Given the description of an element on the screen output the (x, y) to click on. 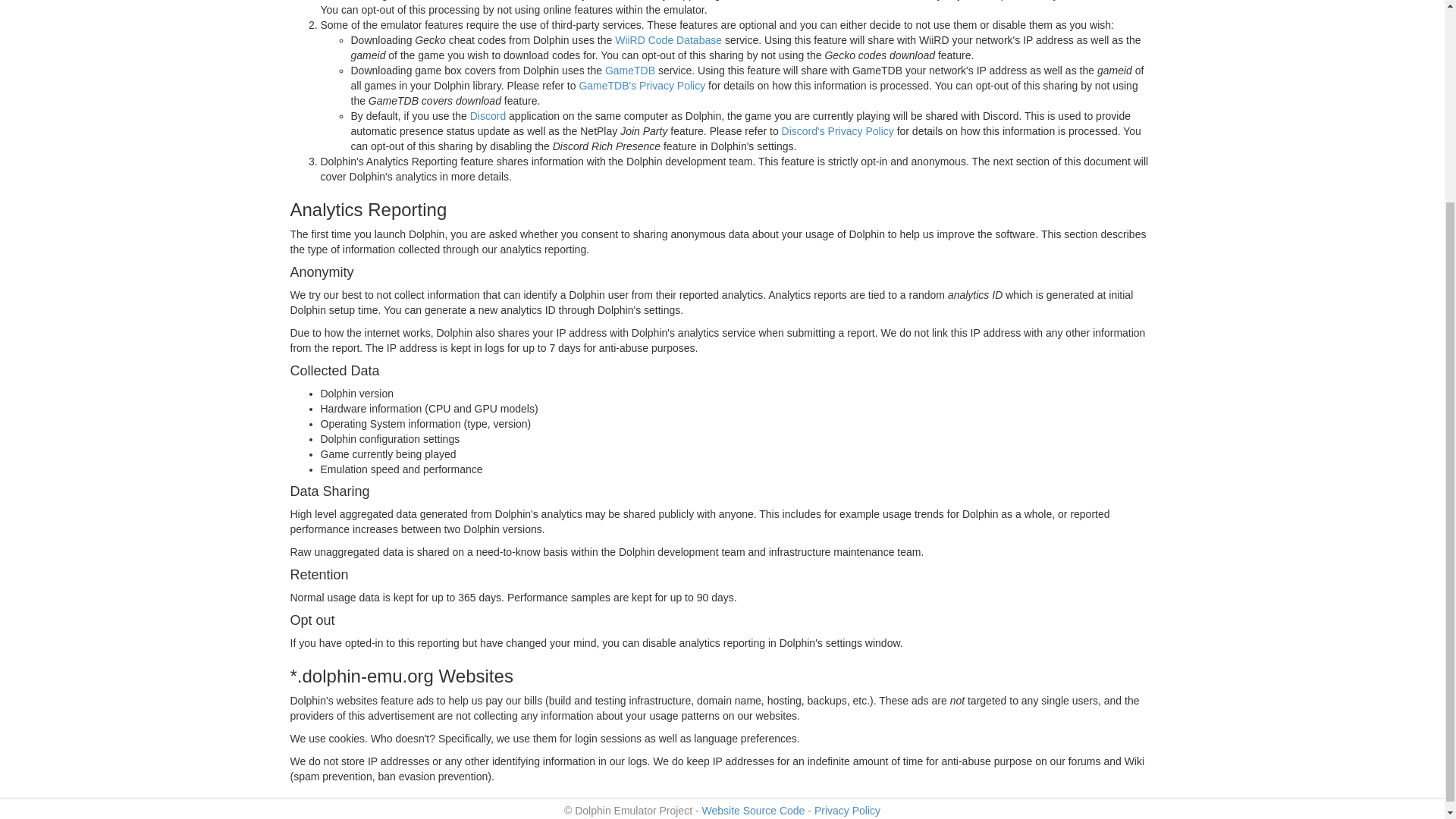
GameTDB (630, 70)
WiiRD Code Database (668, 39)
